Given the description of an element on the screen output the (x, y) to click on. 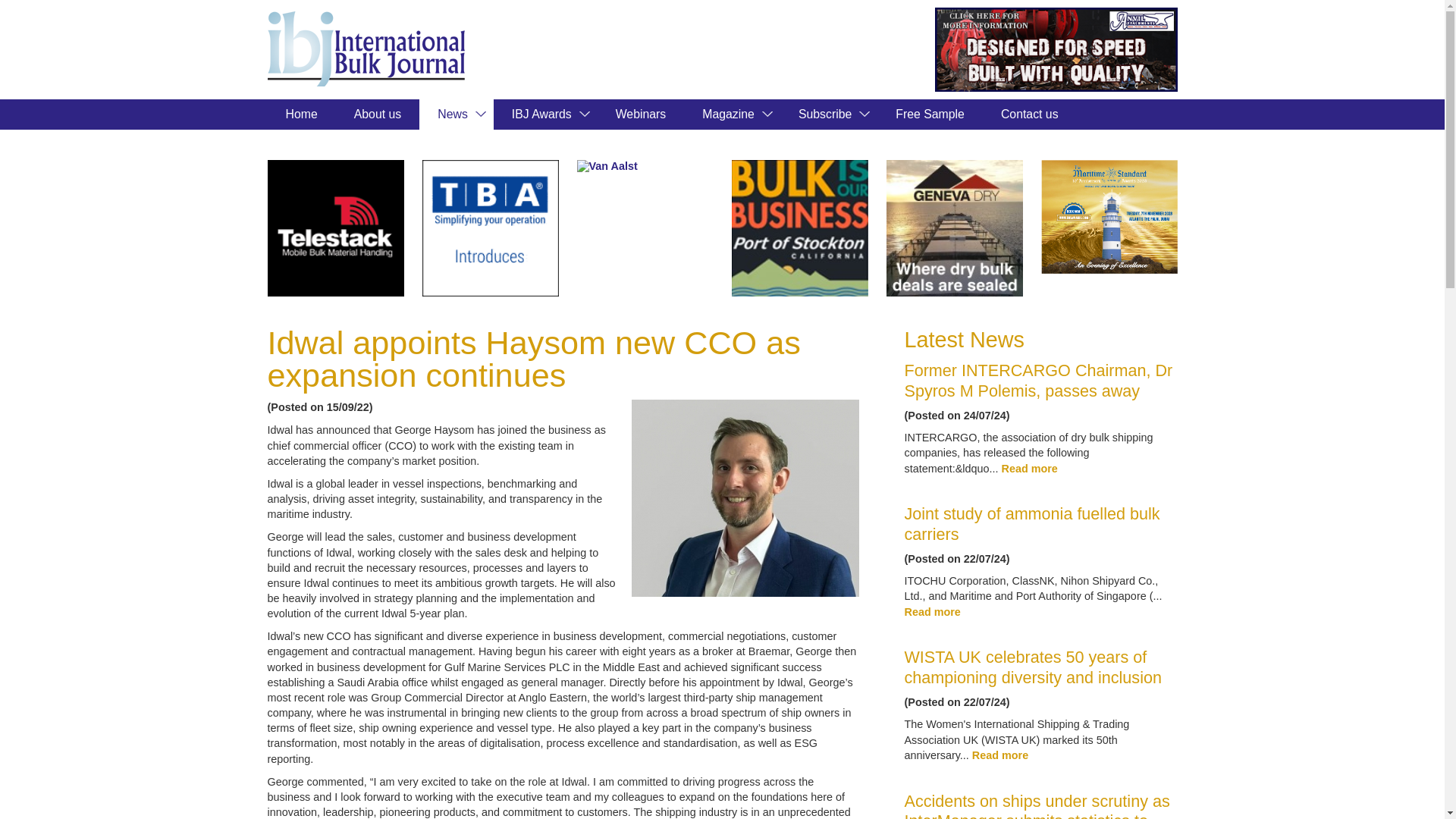
IBJ Awards (544, 114)
About us (377, 114)
News (456, 114)
Home (300, 114)
